Given the description of an element on the screen output the (x, y) to click on. 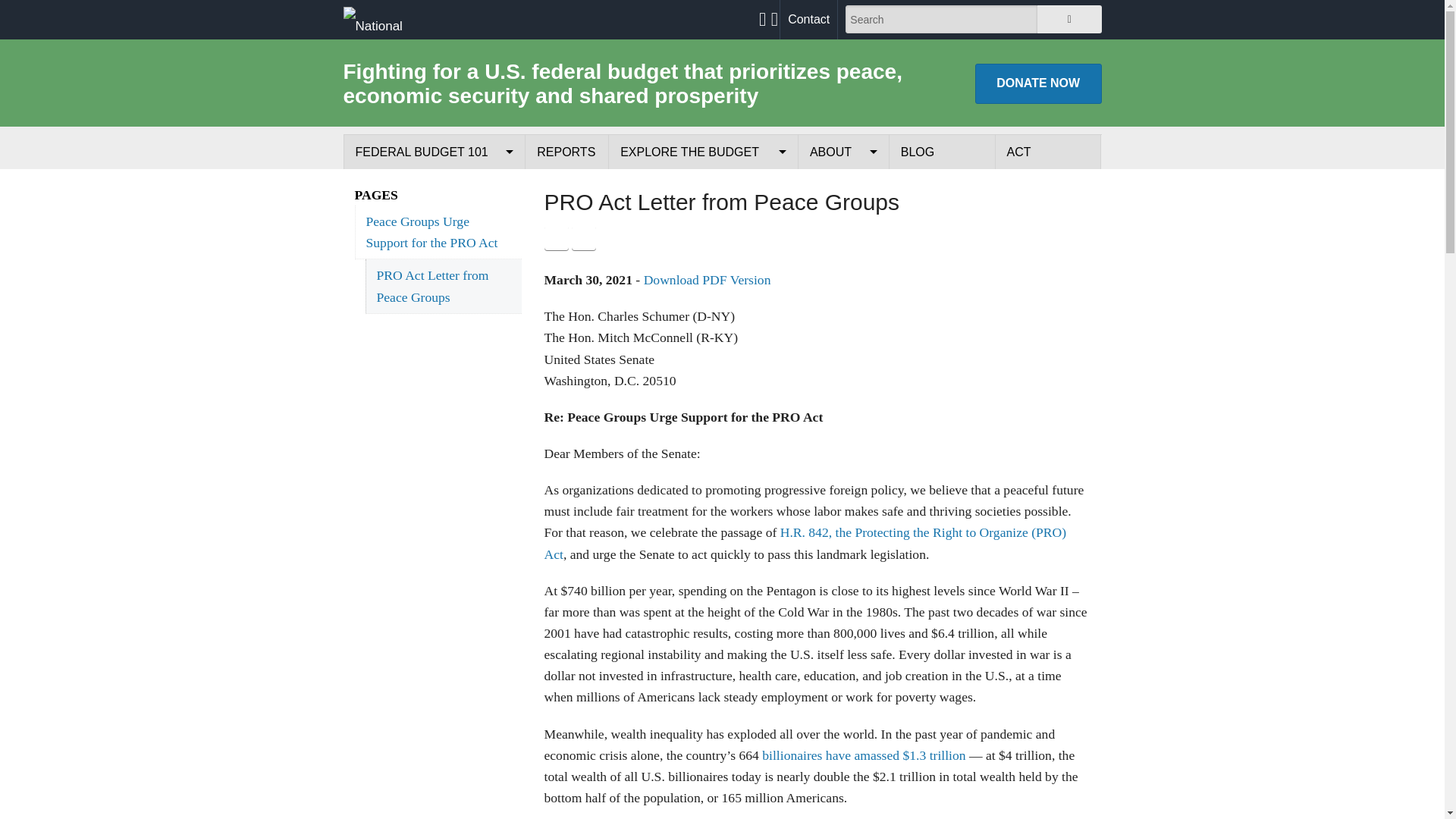
Facebook (556, 238)
Mission (843, 186)
National Priorities Project (390, 19)
EXPLORE THE BUDGET (702, 151)
Federal Budget Glossary (433, 326)
Cost of National Security (703, 256)
Where the Money Comes From (433, 221)
Your Tax Receipt (703, 186)
Where the Money Goes (433, 256)
Twitter (583, 238)
DONATE NOW (1038, 83)
PRO Act Letter from Peace Groups (443, 285)
Tools for Journalists (843, 326)
Team (843, 256)
Download PDF Version (707, 279)
